Given the description of an element on the screen output the (x, y) to click on. 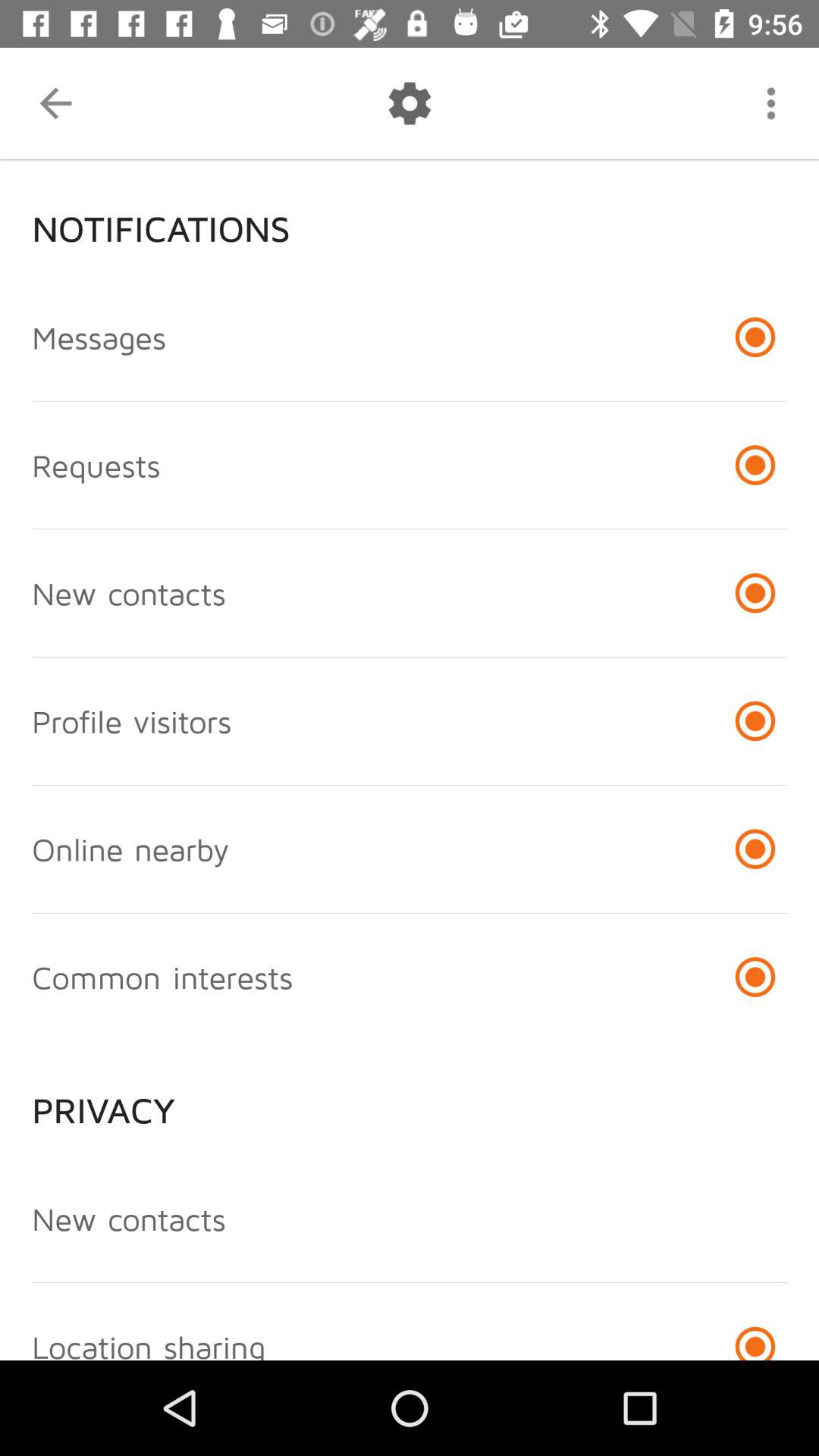
jump to messages (98, 336)
